Given the description of an element on the screen output the (x, y) to click on. 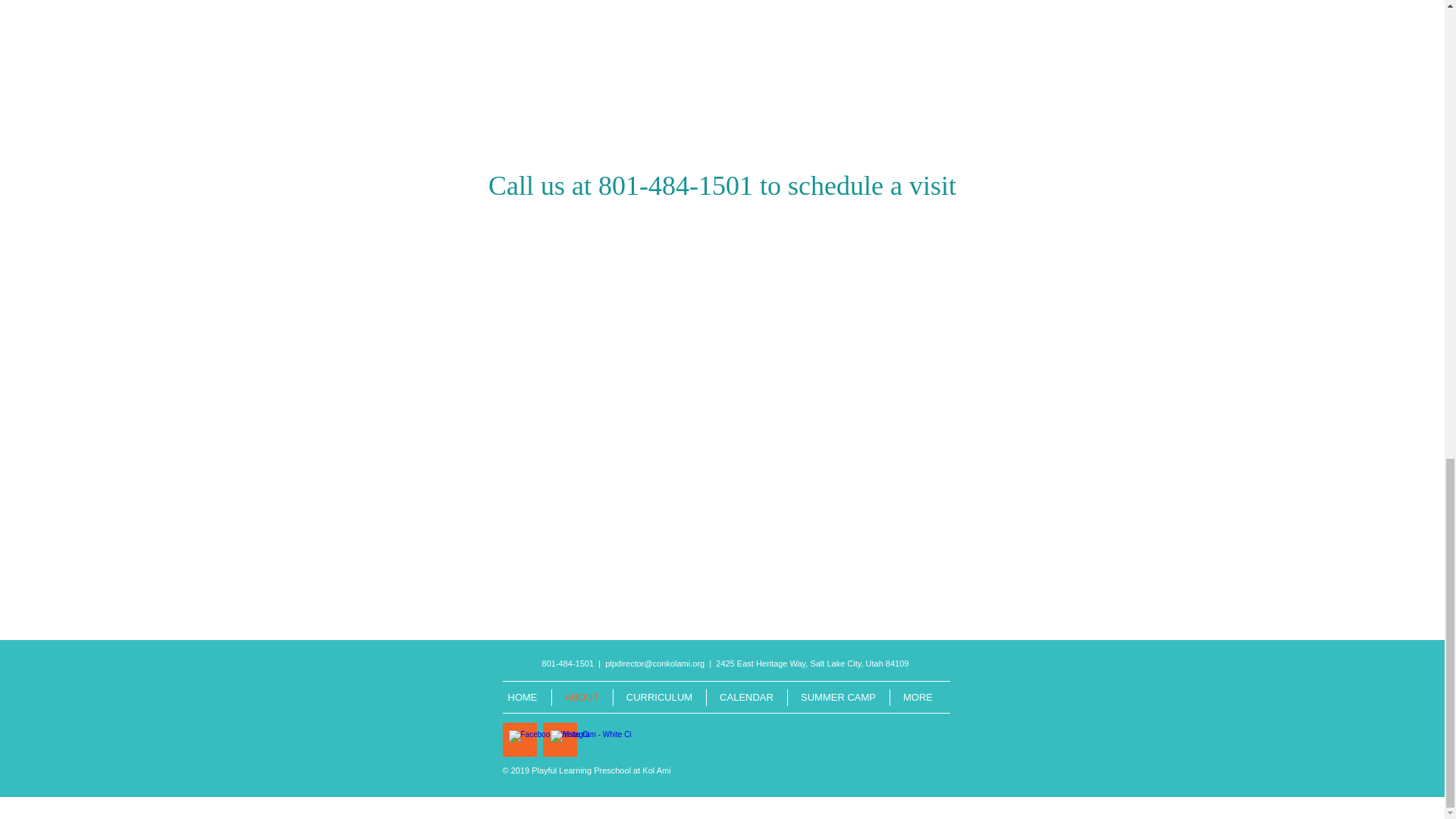
CALENDAR (745, 697)
CURRICULUM (659, 697)
ABOUT (580, 697)
801-484-1501 (567, 663)
2425 East Heritage Way, Salt Lake City, Utah 84109 (812, 663)
SUMMER CAMP (838, 697)
HOME (523, 697)
